Given the description of an element on the screen output the (x, y) to click on. 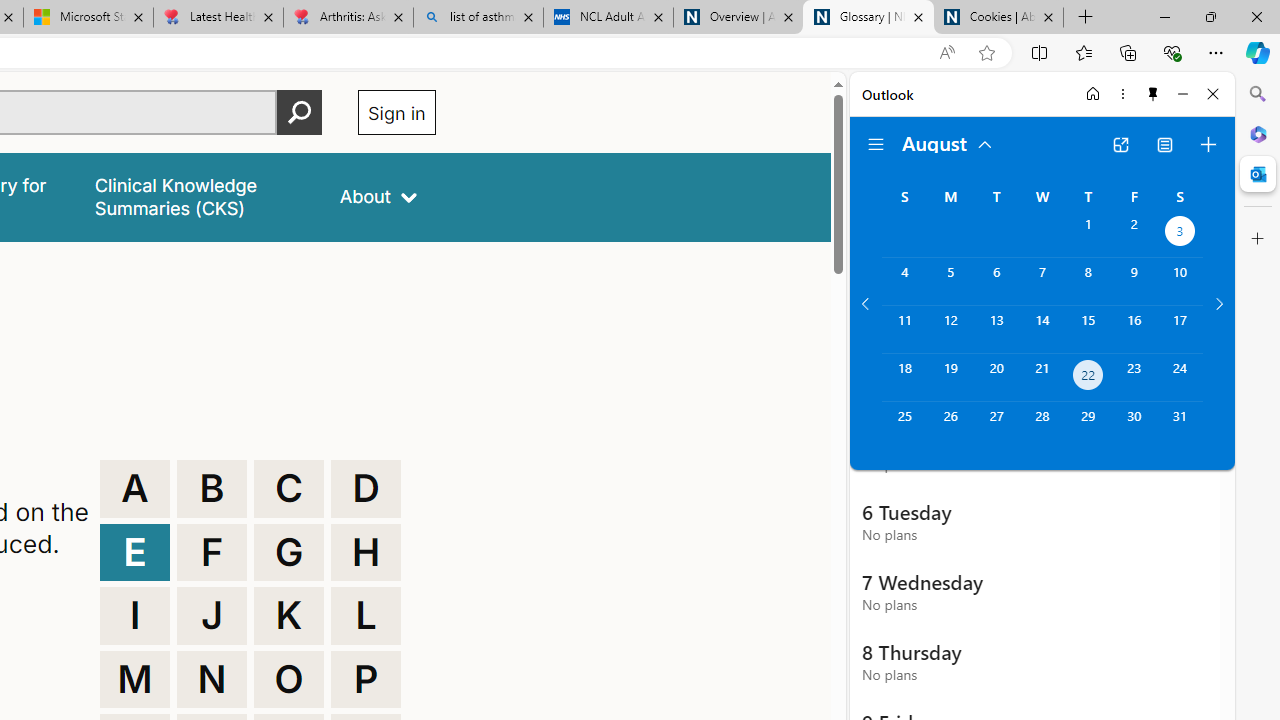
Create event (1208, 144)
list of asthma inhalers uk - Search (477, 17)
Microsoft 365 (1258, 133)
L (365, 615)
Perform search (299, 112)
Saturday, August 31, 2024.  (1180, 425)
Close Customize pane (1258, 239)
false (198, 196)
J (212, 615)
Sunday, August 11, 2024.  (904, 329)
Read aloud this page (Ctrl+Shift+U) (946, 53)
P (365, 679)
B (212, 488)
Search (1258, 94)
